Given the description of an element on the screen output the (x, y) to click on. 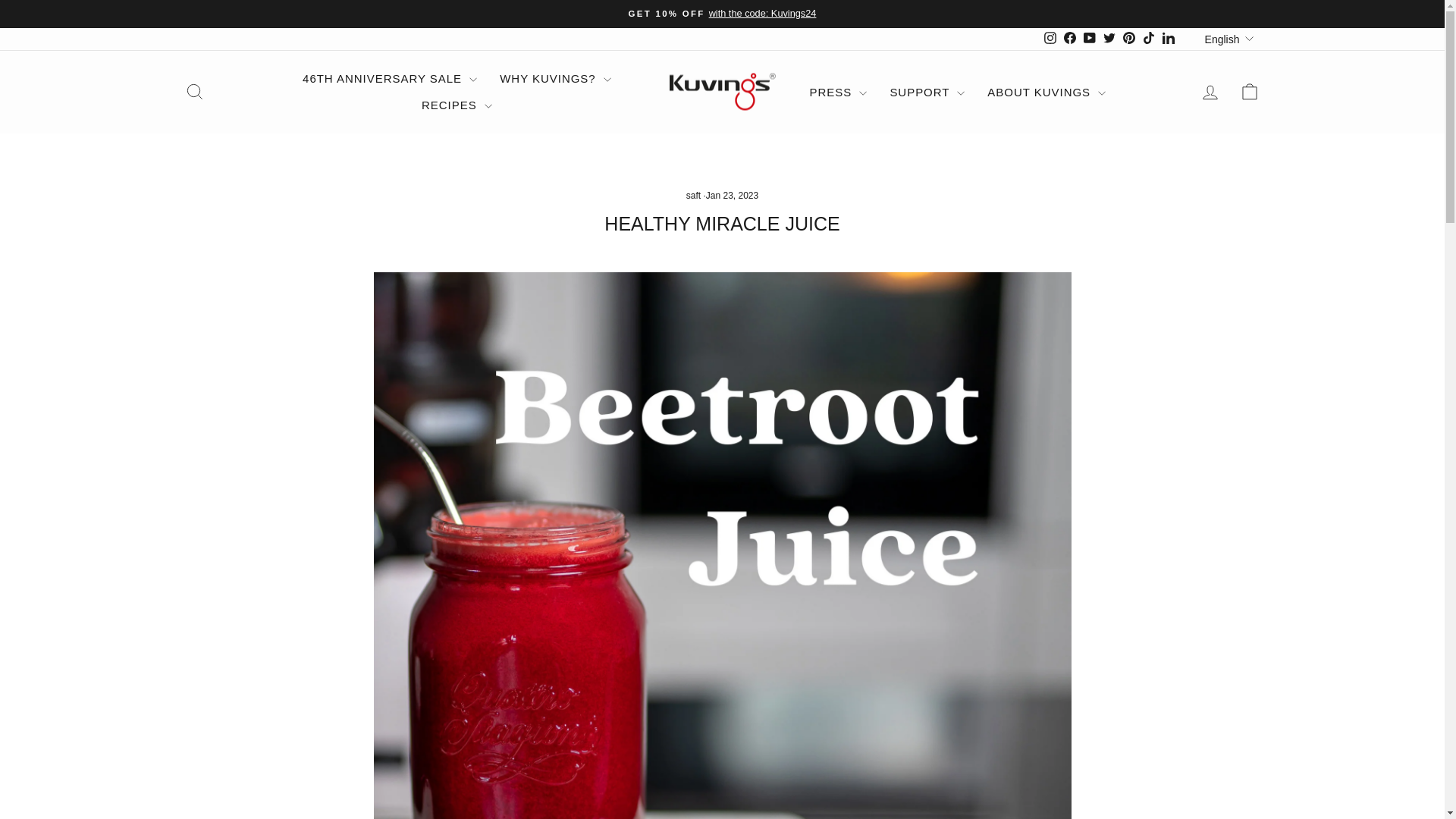
Kuvings Deutschland on Instagram (1050, 38)
ICON-SEARCH (194, 91)
twitter (1109, 37)
Kuvings Deutschland on TikTok (1148, 38)
Kuvings Deutschland on Pinterest (1128, 38)
Kuvings Deutschland on Facebook (1069, 38)
Kuvings Deutschland on YouTube (1089, 38)
Kuvings Deutschland on Twitter (1109, 38)
ICON-BAG-MINIMAL (1249, 91)
instagram (1050, 37)
